Given the description of an element on the screen output the (x, y) to click on. 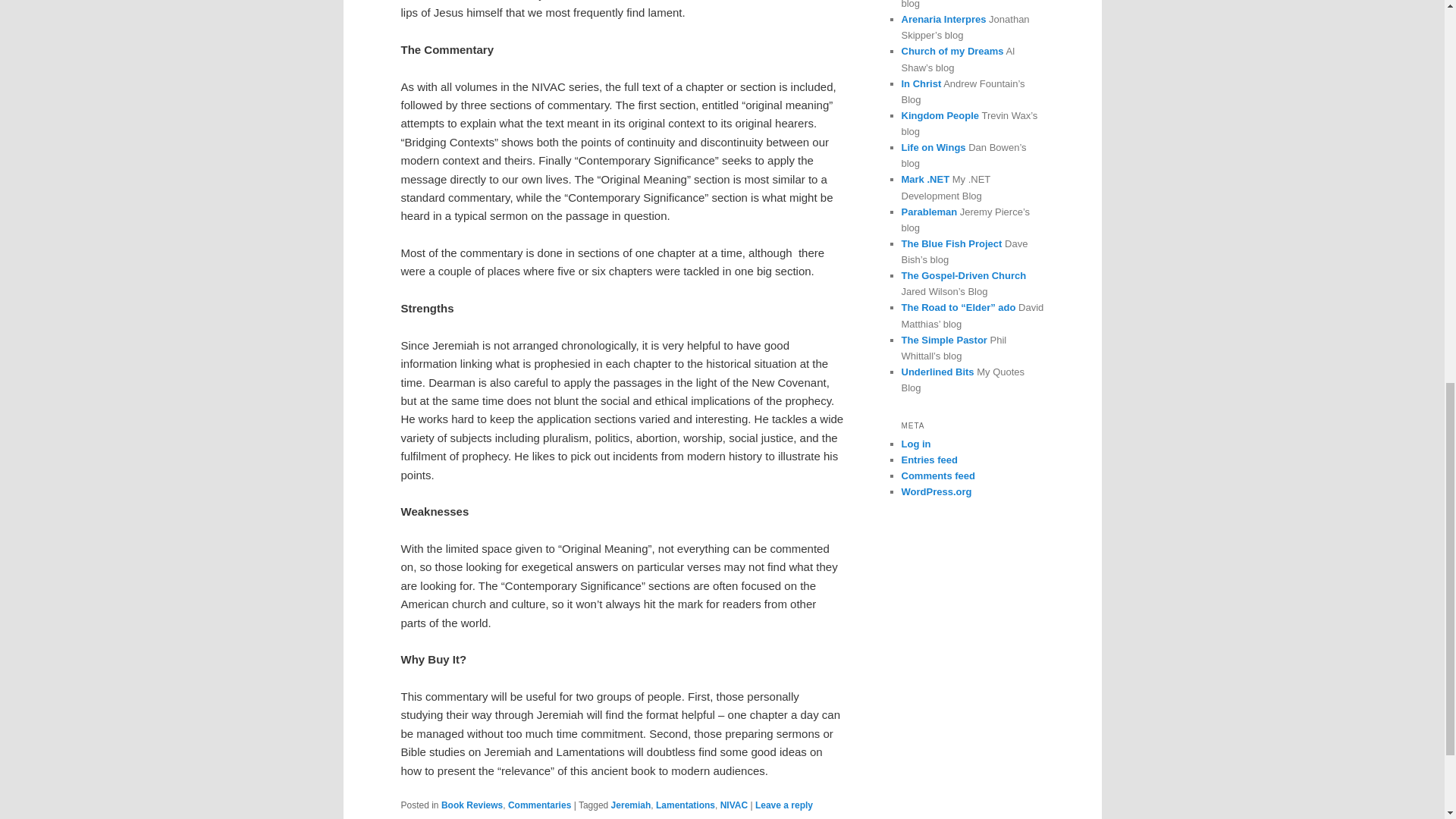
Arenaria Interpres (943, 19)
Leave a reply (783, 805)
Kingdom People (939, 115)
My Quotes Blog (937, 371)
Mark .NET (925, 179)
Commentaries (539, 805)
NIVAC (734, 805)
Parableman (928, 211)
My .NET Development Blog (925, 179)
Book Reviews (471, 805)
